Given the description of an element on the screen output the (x, y) to click on. 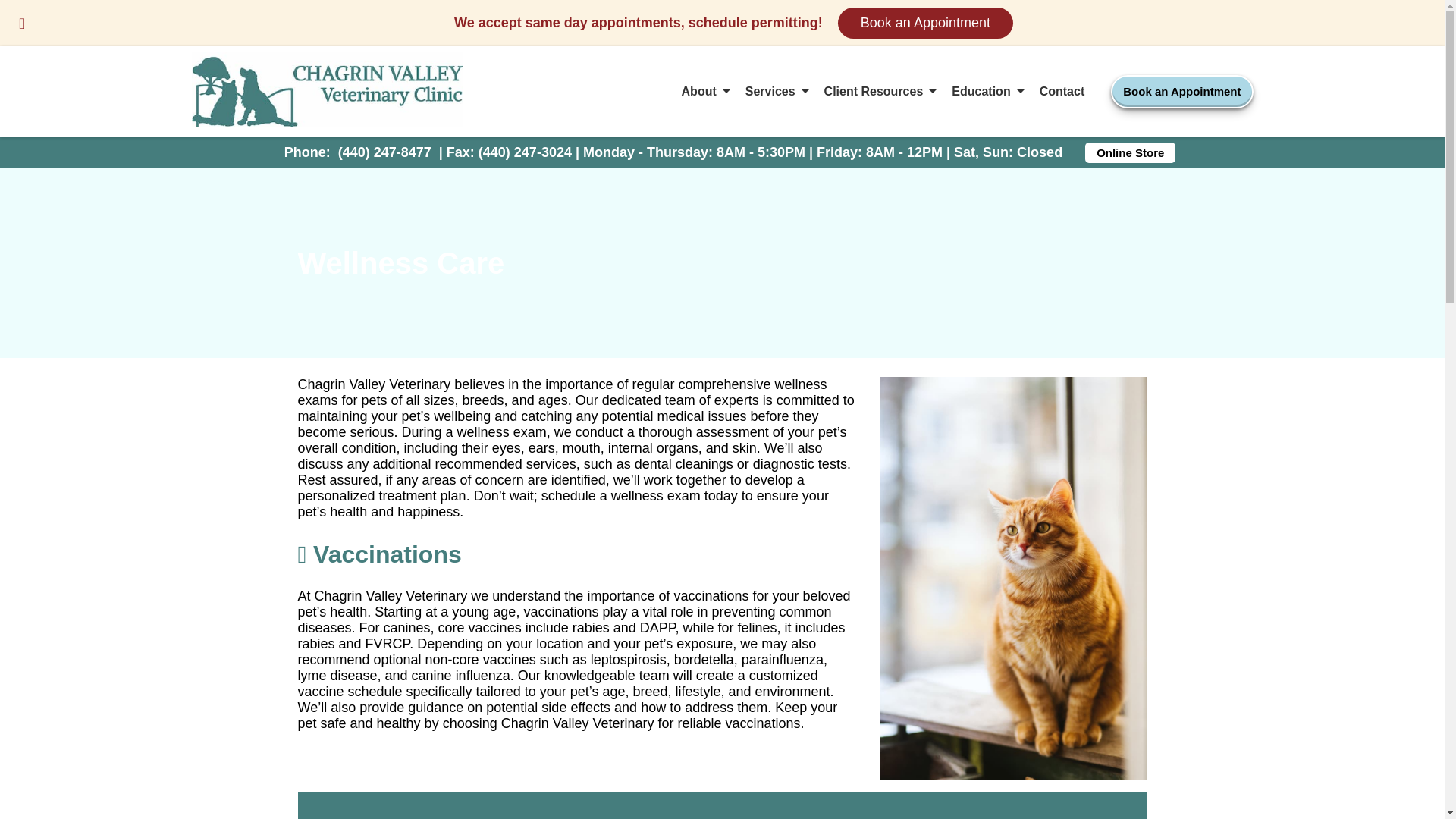
Home Link (325, 91)
Contact (1061, 91)
Online Store (1129, 152)
Book an Appointment (925, 22)
Client Resources (880, 91)
About (705, 91)
Services (777, 91)
Education (987, 91)
Book an Appointment (1181, 91)
